Given the description of an element on the screen output the (x, y) to click on. 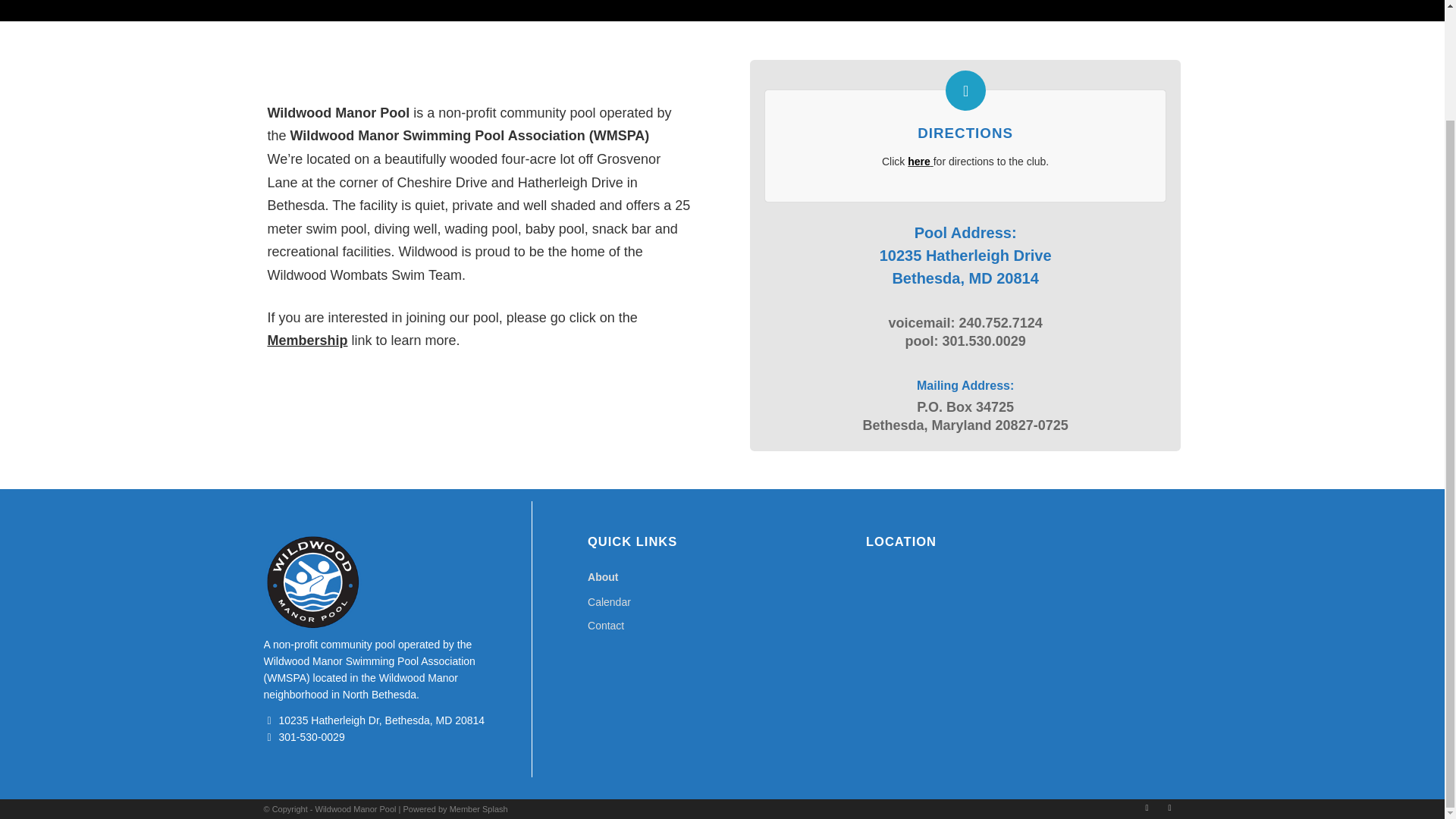
here (918, 161)
Calendar (722, 602)
ABOUT (297, 0)
Powered by Member Splash (454, 809)
Contact (722, 626)
Permanent Link: About (297, 0)
About (722, 577)
Membership (306, 340)
